Given the description of an element on the screen output the (x, y) to click on. 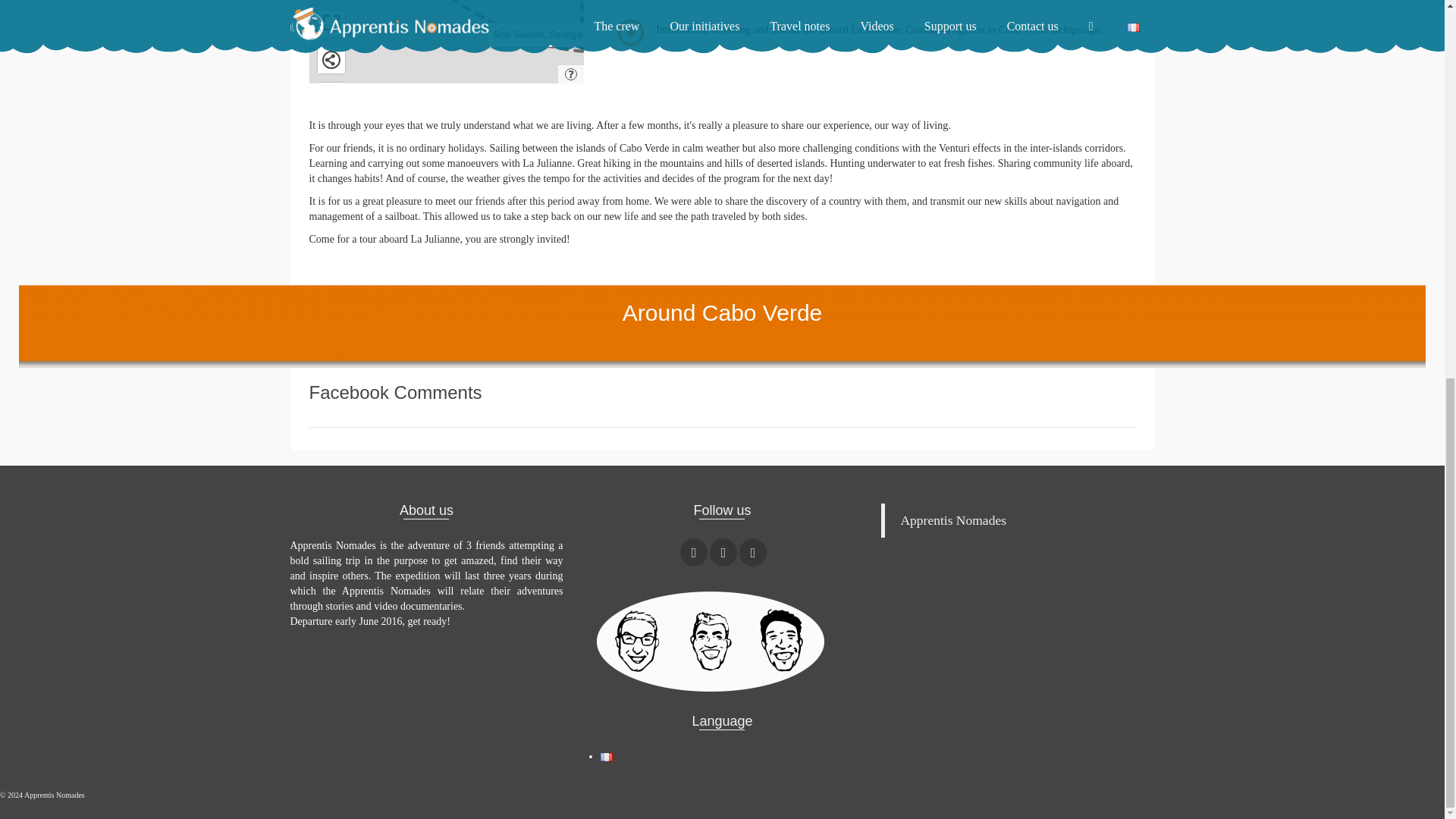
Apprentis Nomades (952, 519)
